Given the description of an element on the screen output the (x, y) to click on. 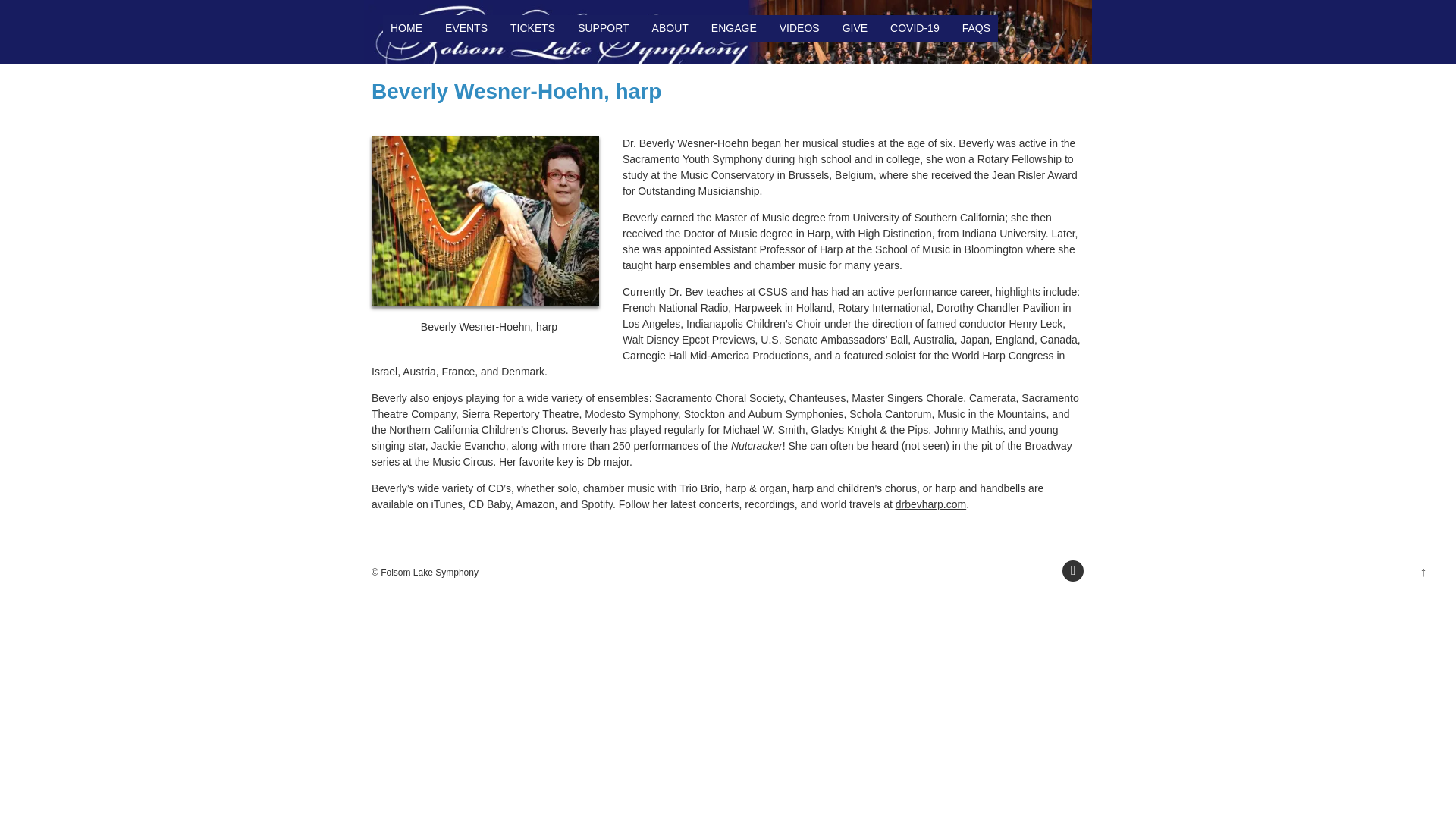
EVENTS (466, 28)
SUPPORT (603, 28)
ENGAGE (733, 28)
TICKETS (532, 28)
GIVE (854, 28)
HOME (405, 28)
VIDEOS (799, 28)
COVID-19 (914, 28)
ABOUT (670, 28)
facebook (1072, 570)
